Given the description of an element on the screen output the (x, y) to click on. 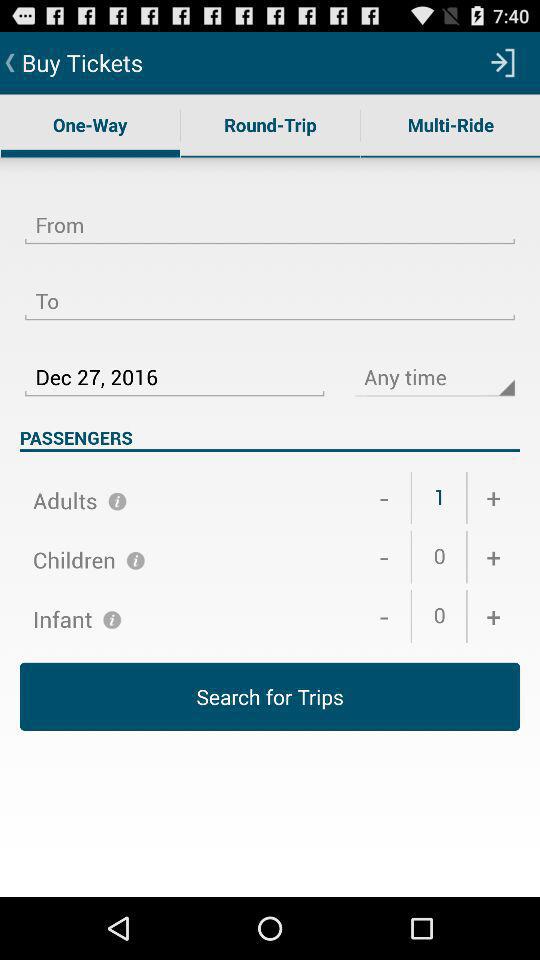
press the item below + icon (269, 696)
